Given the description of an element on the screen output the (x, y) to click on. 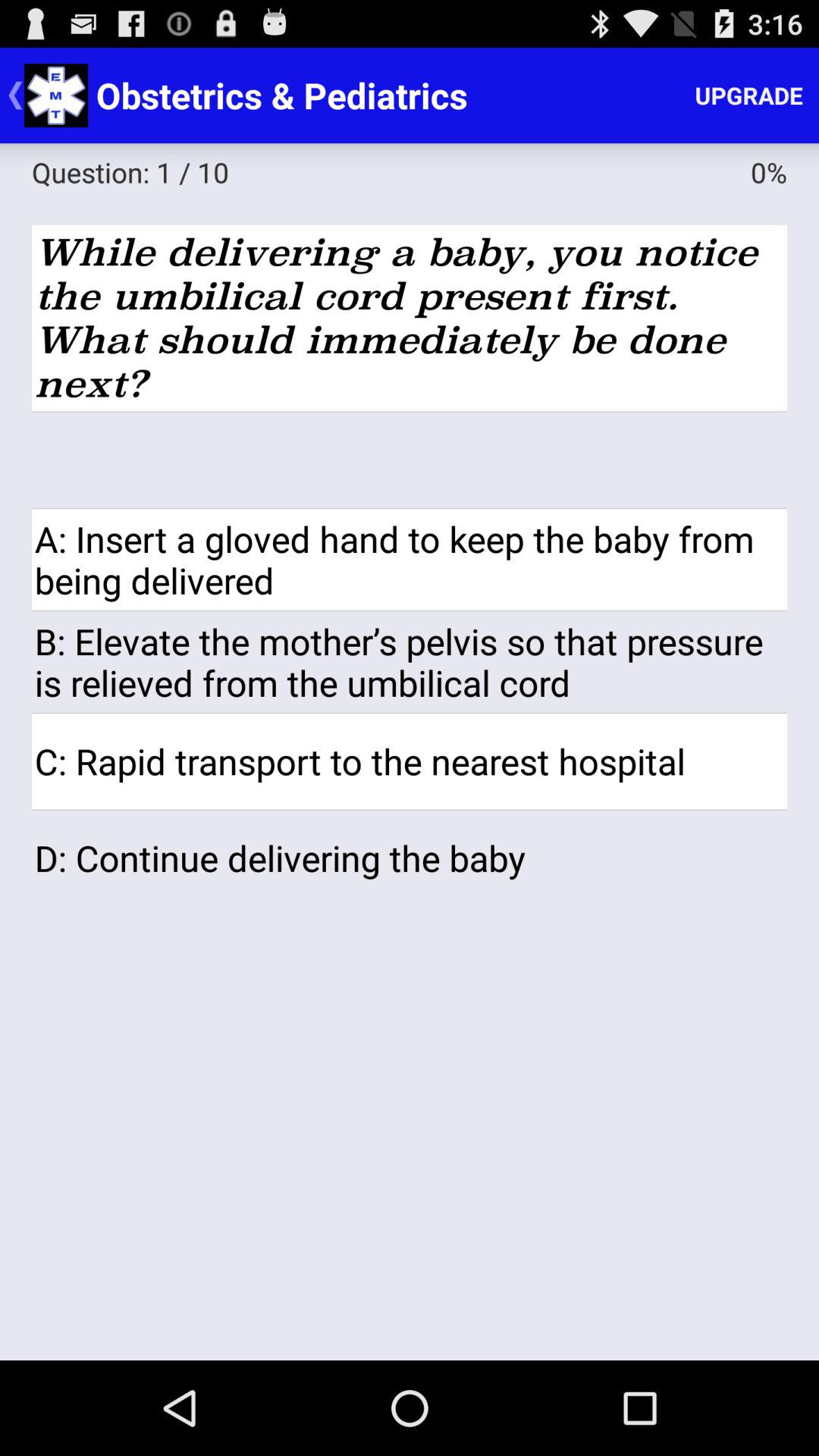
swipe until app (409, 459)
